Given the description of an element on the screen output the (x, y) to click on. 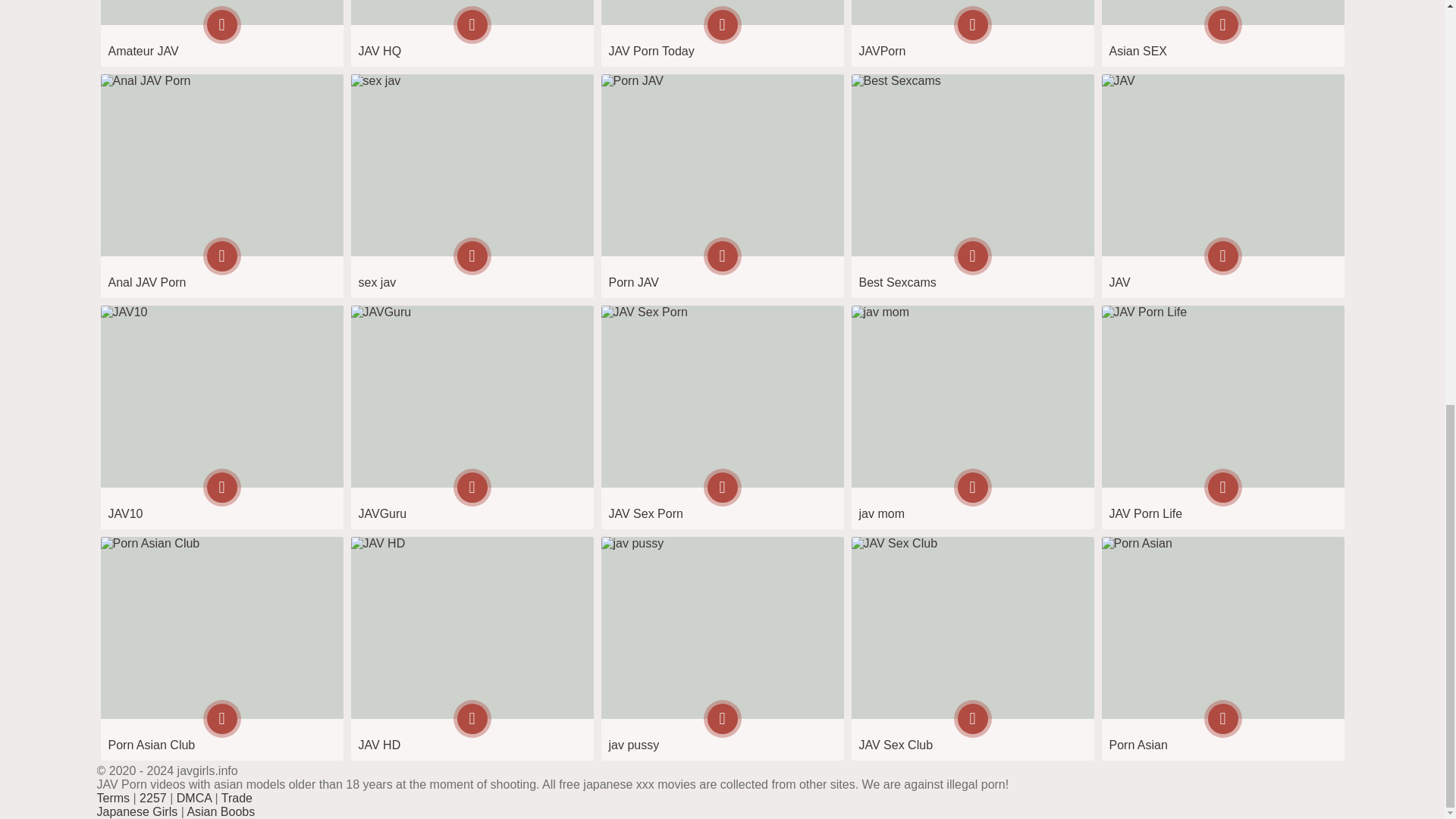
analjavporn.info (221, 186)
javpornsite.com (971, 33)
javguru.club (471, 417)
JAV Porn Today (721, 33)
Anal JAV Porn (221, 186)
javmail.net (721, 417)
Asian SEX (1221, 33)
pornasian.club (221, 648)
javporn.today (721, 33)
sexjav.online (471, 186)
